Given the description of an element on the screen output the (x, y) to click on. 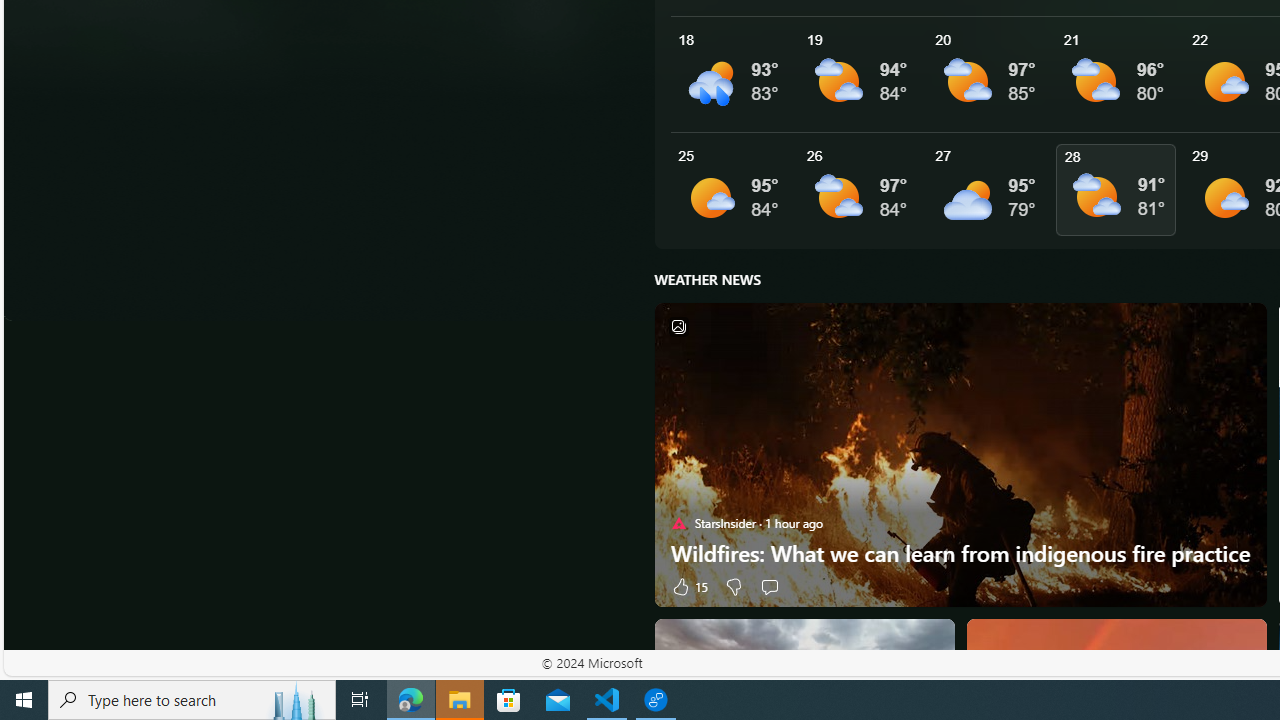
15 Like (688, 586)
